Given the description of an element on the screen output the (x, y) to click on. 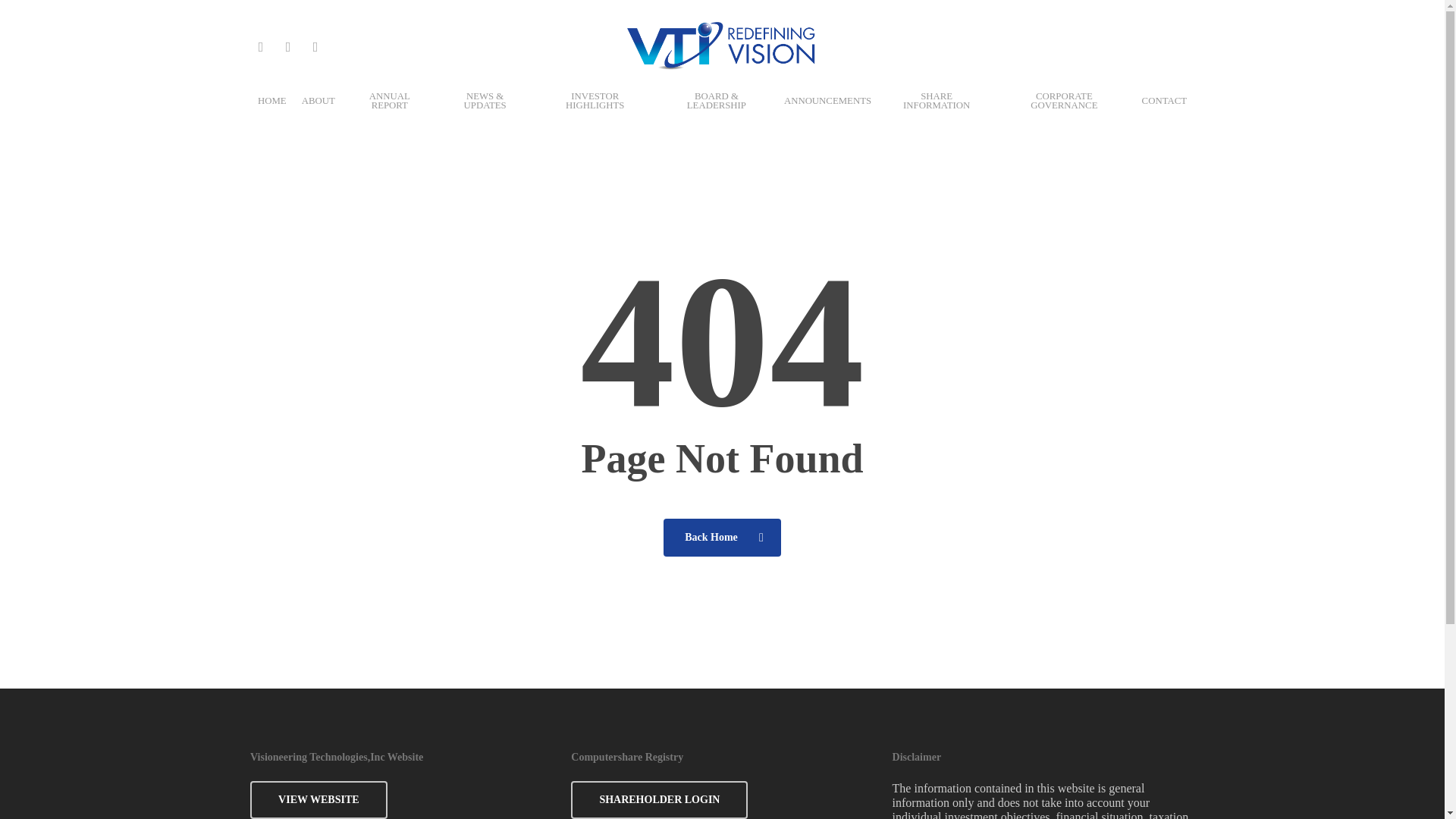
CORPORATE GOVERNANCE (1064, 111)
SHAREHOLDER LOGIN (659, 800)
ANNOUNCEMENTS (827, 111)
ANNUAL REPORT (389, 111)
Back Home (721, 537)
VIEW WEBSITE (318, 800)
SHARE INFORMATION (936, 111)
INVESTOR HIGHLIGHTS (595, 111)
HOME (272, 111)
CONTACT (1163, 111)
